Given the description of an element on the screen output the (x, y) to click on. 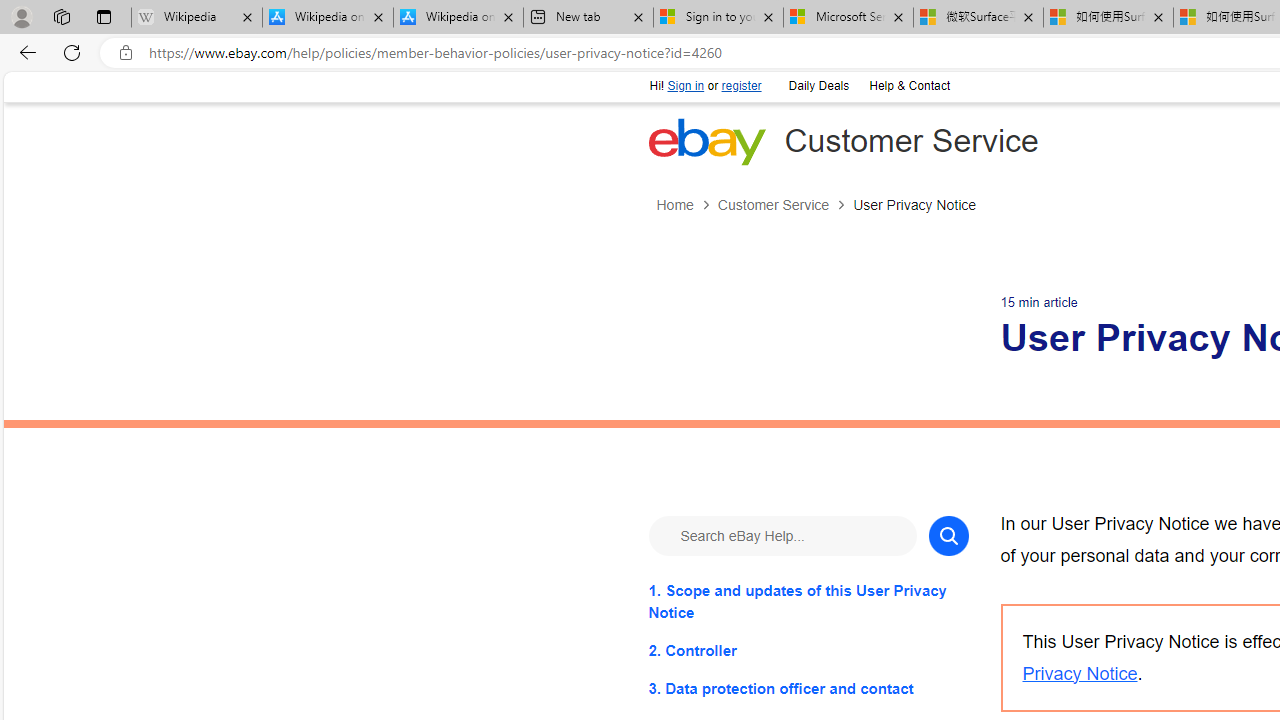
eBay Home (706, 141)
Help & Contact (909, 86)
Customer Service (784, 205)
2. Controller (807, 650)
Search eBay Help... (781, 534)
